Given the description of an element on the screen output the (x, y) to click on. 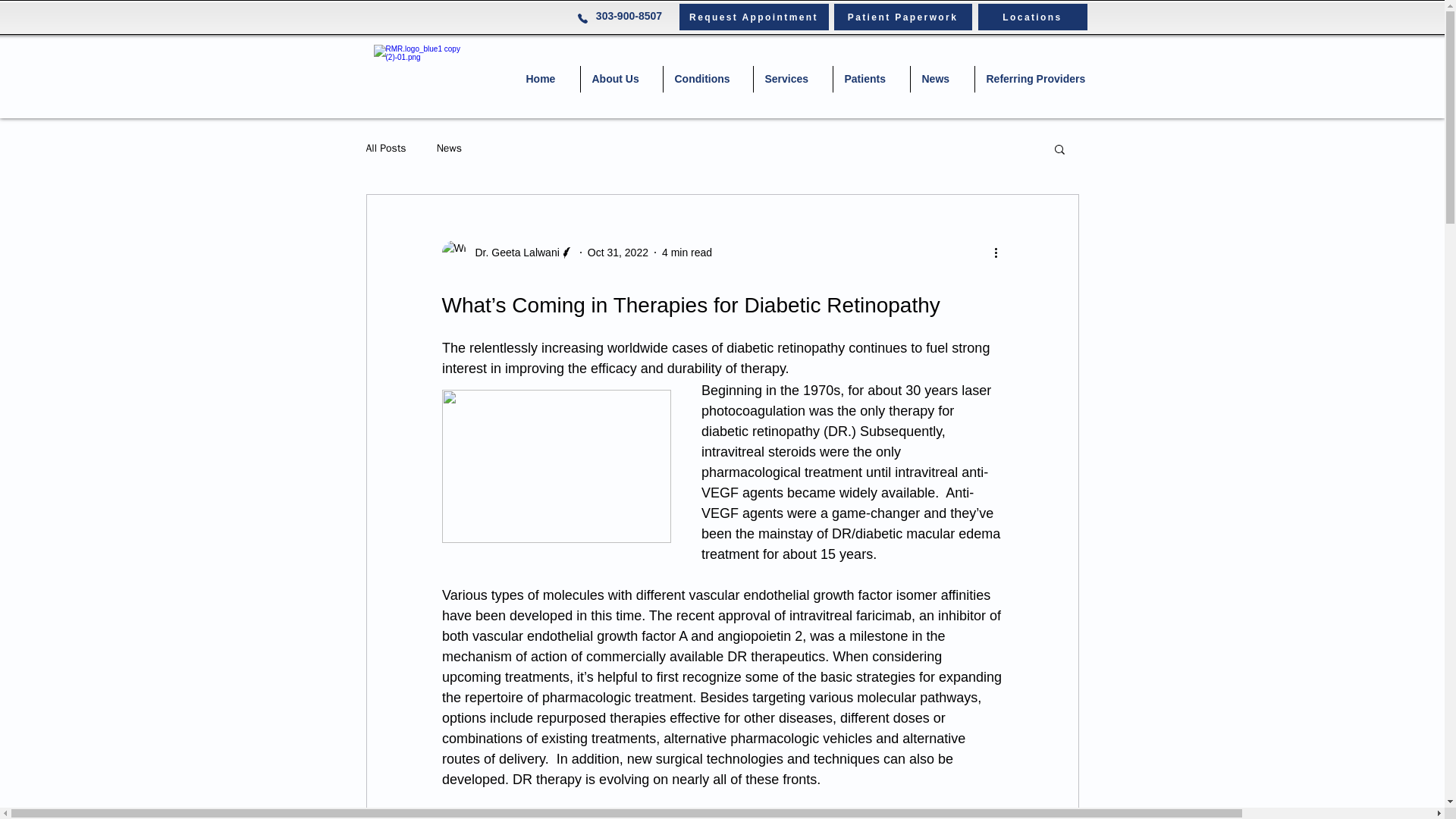
News (942, 79)
4 min read (686, 251)
Dr. Geeta Lalwani (512, 252)
About Us (621, 79)
Home (546, 79)
 303-900-8507 (627, 15)
Oct 31, 2022 (617, 251)
Request Appointment (753, 17)
All Posts (385, 148)
Referring Providers (1040, 79)
